Given the description of an element on the screen output the (x, y) to click on. 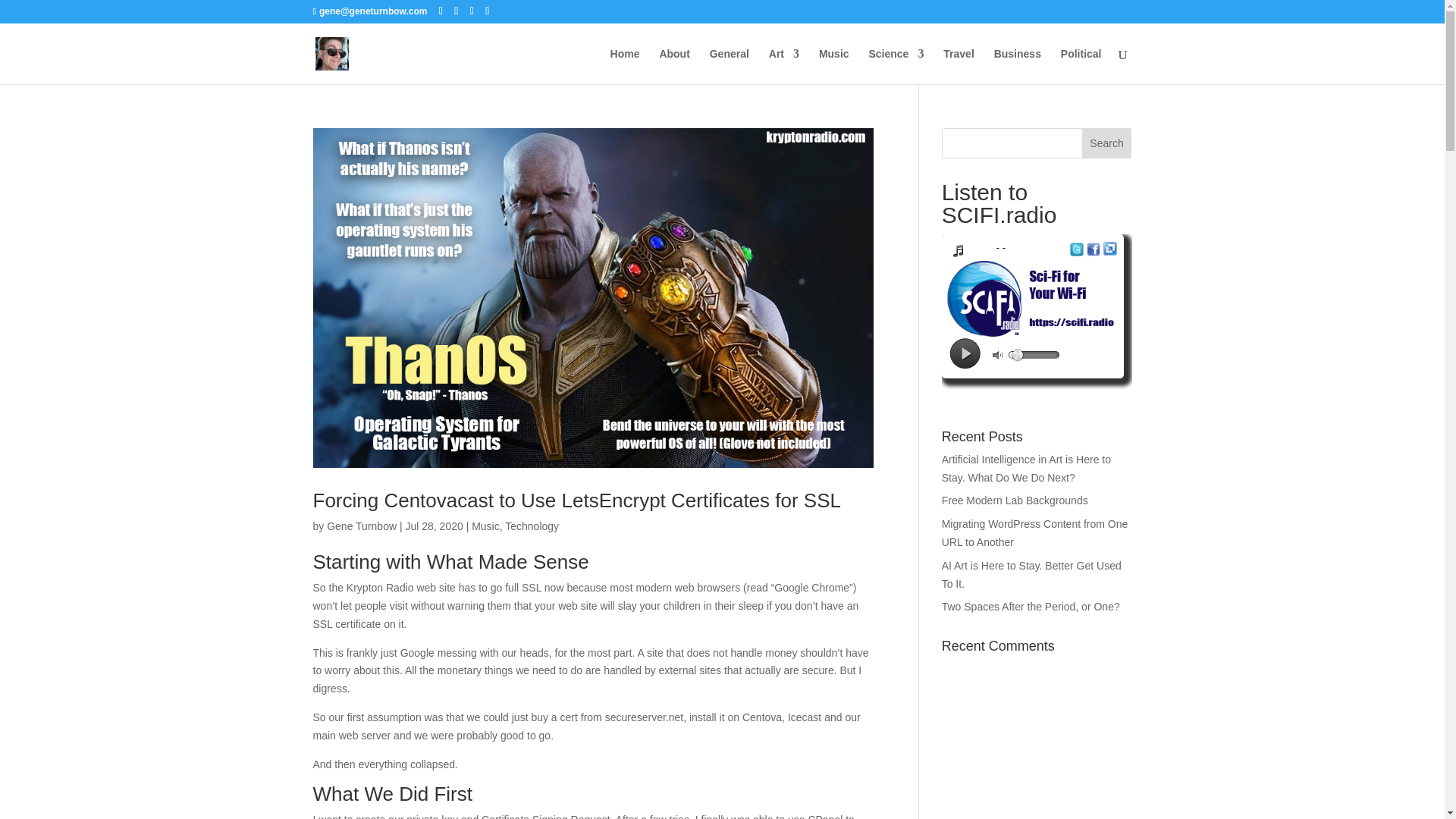
Business (1017, 66)
CodePen Embed rawvJe (1037, 751)
Political (1081, 66)
Science (895, 66)
Search (1106, 142)
Posts by Gene Turnbow (361, 526)
General (729, 66)
